Given the description of an element on the screen output the (x, y) to click on. 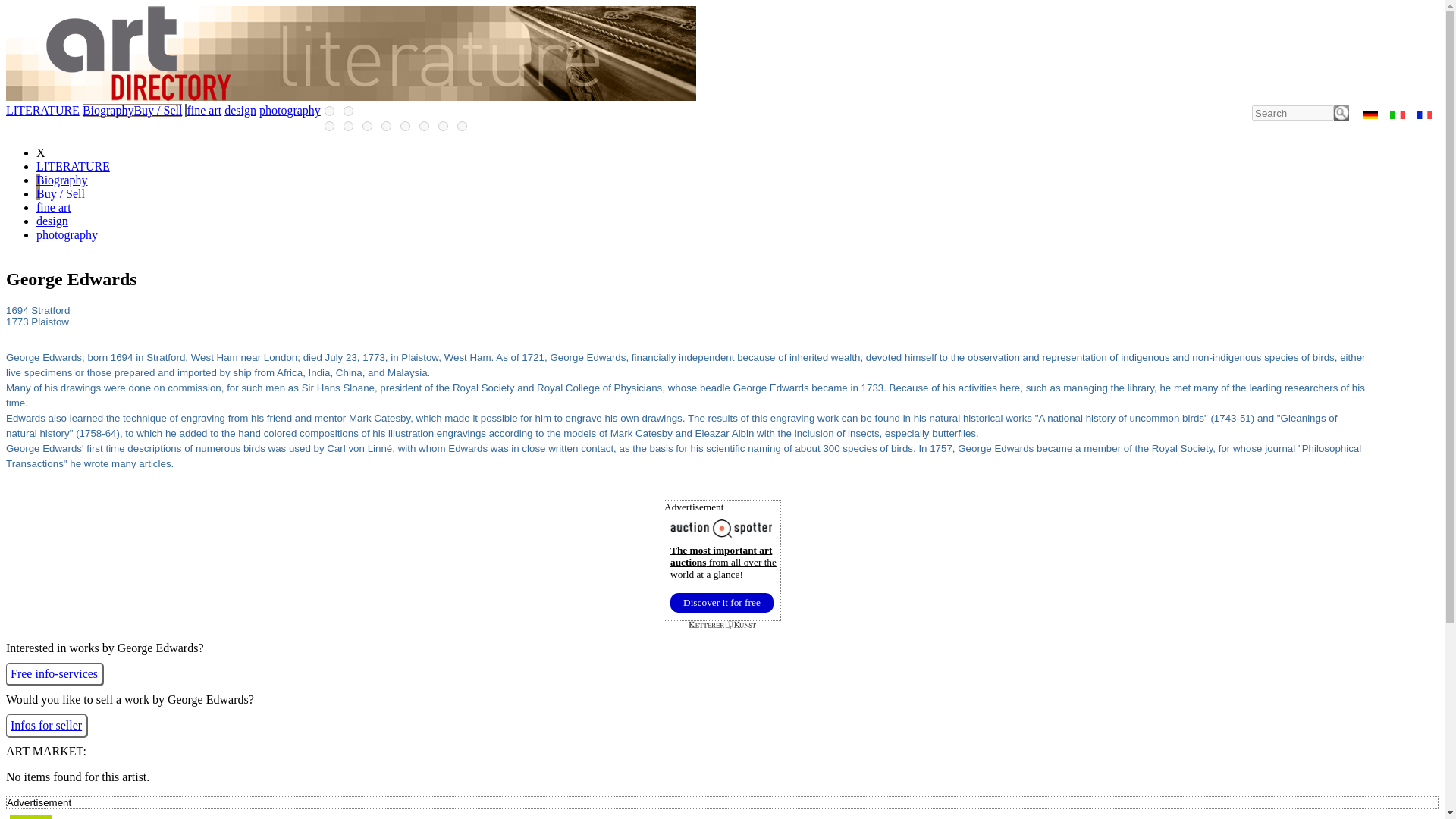
Auction Spotter (721, 602)
on (424, 126)
Biography (61, 179)
on (462, 126)
design (52, 220)
Infos for seller (46, 725)
design (240, 110)
on (348, 111)
on (386, 126)
on (367, 126)
